Given the description of an element on the screen output the (x, y) to click on. 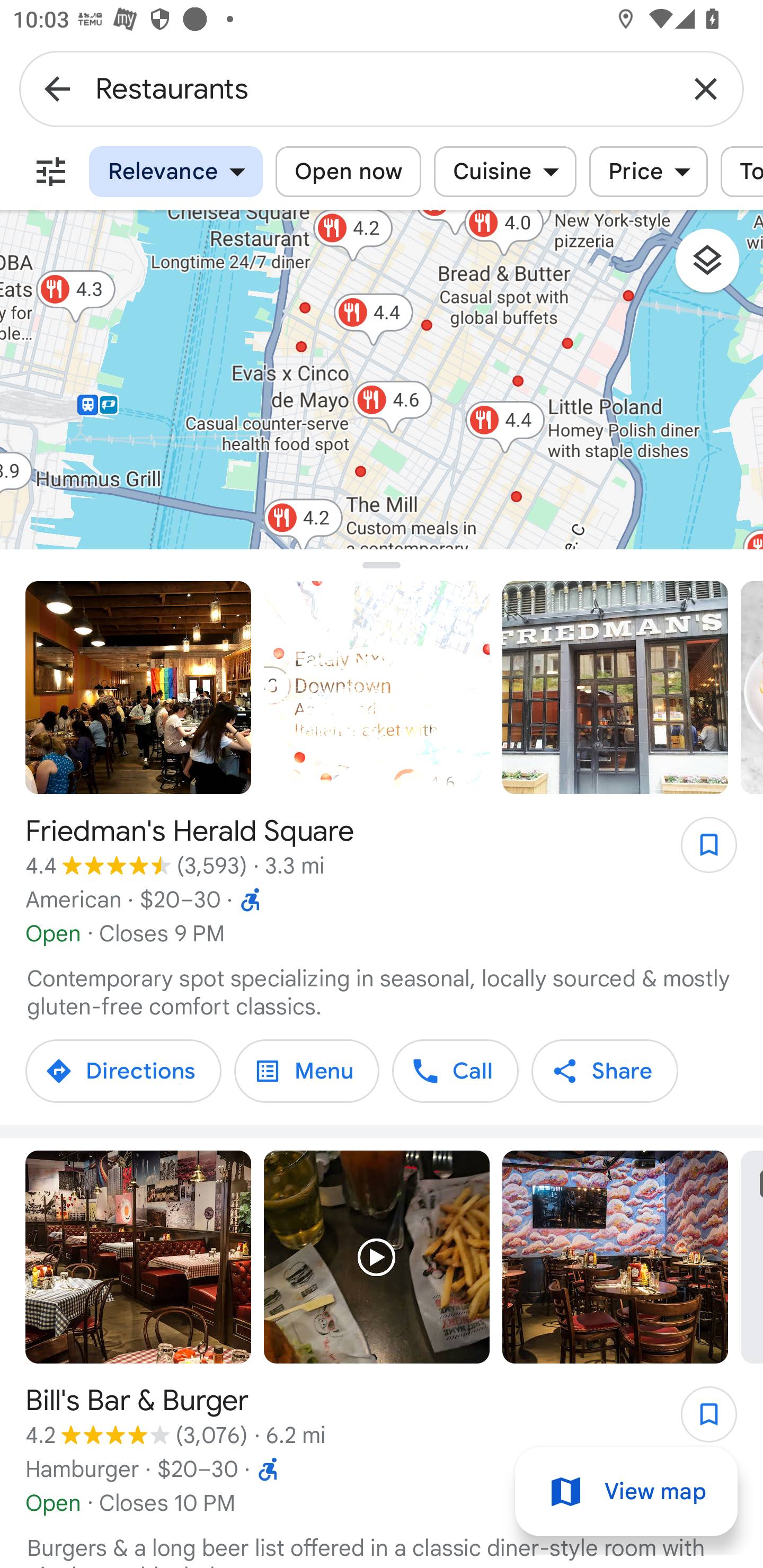
Back (57, 88)
Restaurants (381, 88)
Clear (705, 88)
More filters (50, 171)
Relevance Relevance Relevance (175, 171)
Open now Open now Open now (348, 171)
Cuisine Cuisine Cuisine (505, 171)
Price Price Price (648, 171)
Layers (716, 267)
Photo (138, 687)
Video (376, 687)
Photo (614, 687)
Save Friedman's Herald Square to lists (699, 851)
Photo (138, 1257)
Video (376, 1257)
Photo (614, 1257)
Save Bill's Bar & Burger to lists (699, 1420)
View map Map view (626, 1491)
